Given the description of an element on the screen output the (x, y) to click on. 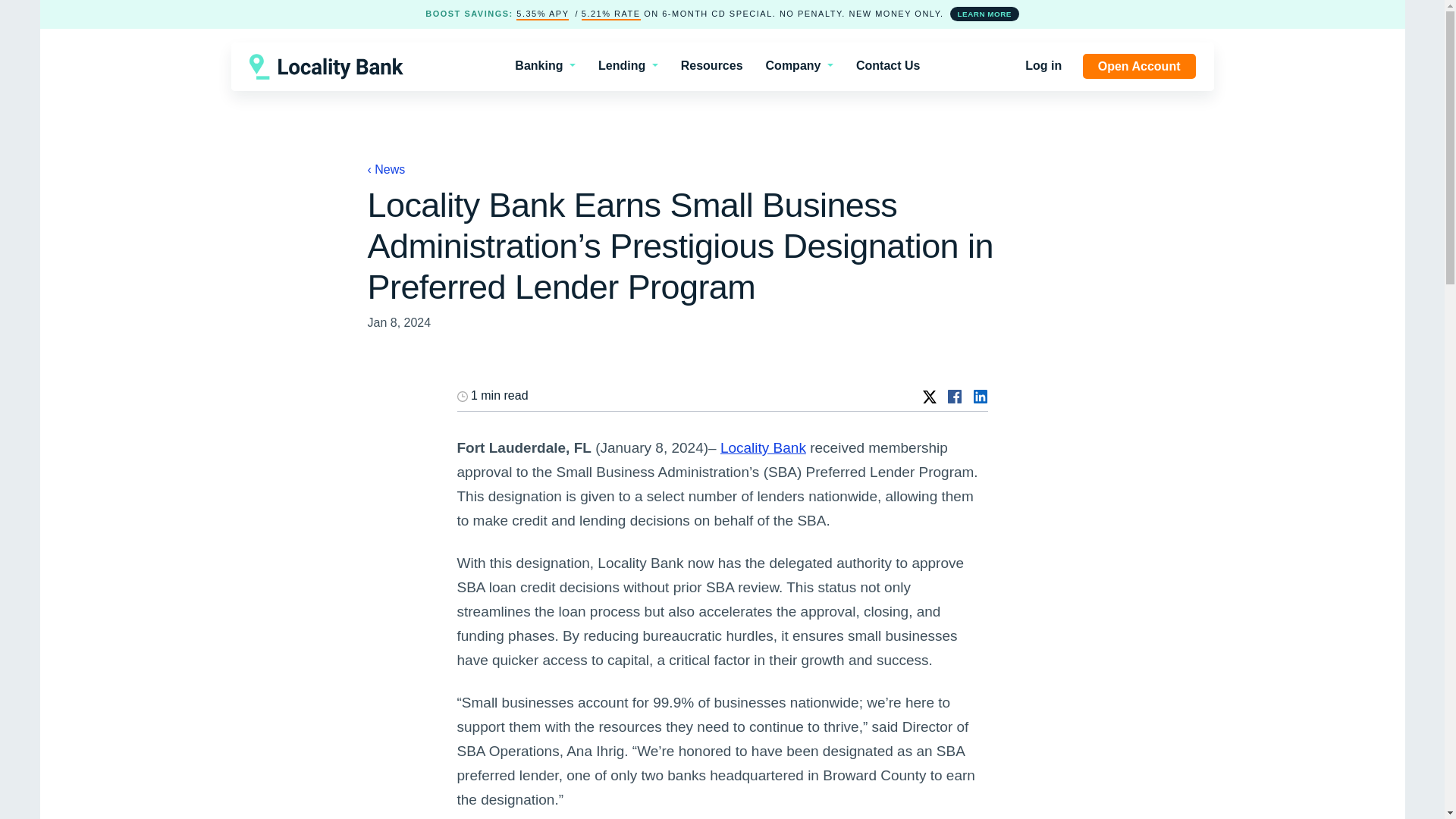
Go to Contact Us (887, 65)
facebook (955, 395)
Contact Us (887, 65)
Locality Bank (763, 447)
linkedin (980, 395)
Log in (1043, 65)
Banking (544, 65)
Resources (711, 65)
Go to Resources (711, 65)
twitter (931, 395)
Locality Bank website (763, 447)
Lending (627, 65)
Company (799, 65)
Open Account (1139, 66)
